Given the description of an element on the screen output the (x, y) to click on. 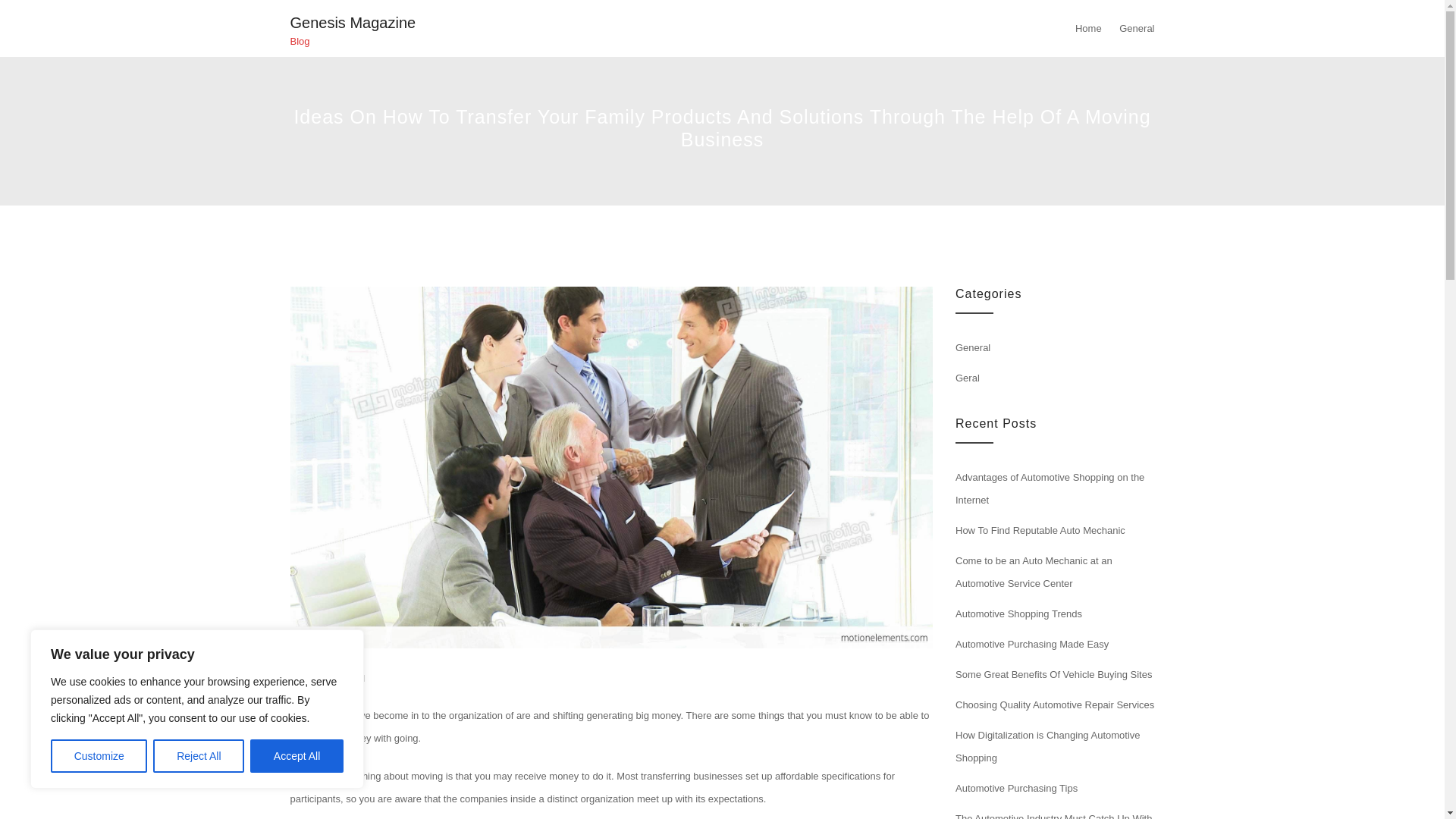
Accept All (296, 756)
Genesis Magazine (351, 22)
How Digitalization is Changing Automotive Shopping (1047, 746)
Some Great Benefits Of Vehicle Buying Sites (1053, 674)
Automotive Shopping Trends (1018, 613)
Reject All (198, 756)
Advantages of Automotive Shopping on the Internet (1049, 488)
Come to be an Auto Mechanic at an Automotive Service Center (1033, 571)
General (347, 677)
